Given the description of an element on the screen output the (x, y) to click on. 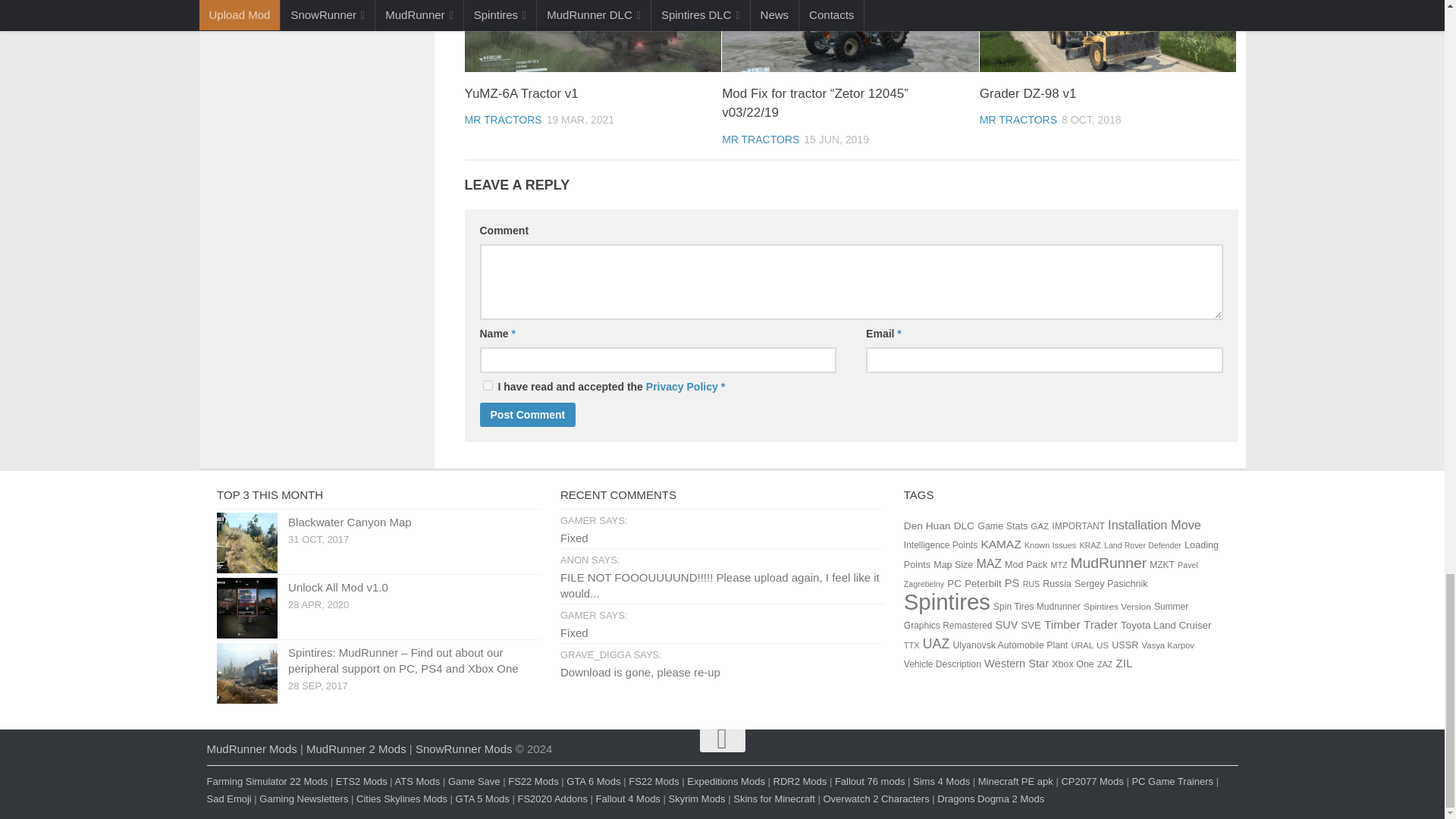
policy-key (486, 385)
YuMZ-6A Tractor v1 (592, 36)
Grader DZ-98 v1 (1028, 93)
Post Comment (527, 414)
Grader DZ-98 v1 (1107, 36)
YuMZ-6A Tractor v1 (521, 93)
